Given the description of an element on the screen output the (x, y) to click on. 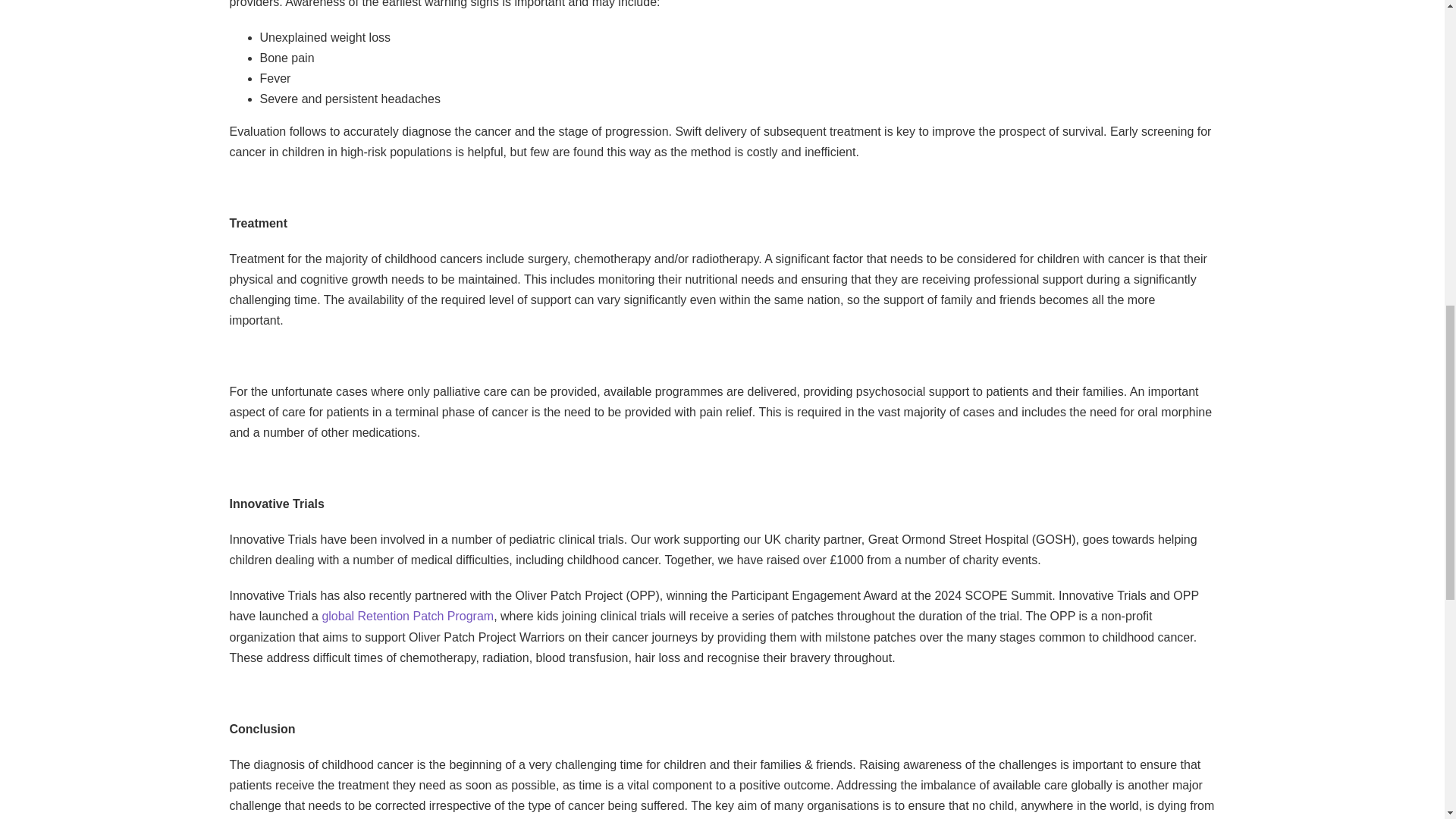
global Retention Patch Program (407, 615)
